Given the description of an element on the screen output the (x, y) to click on. 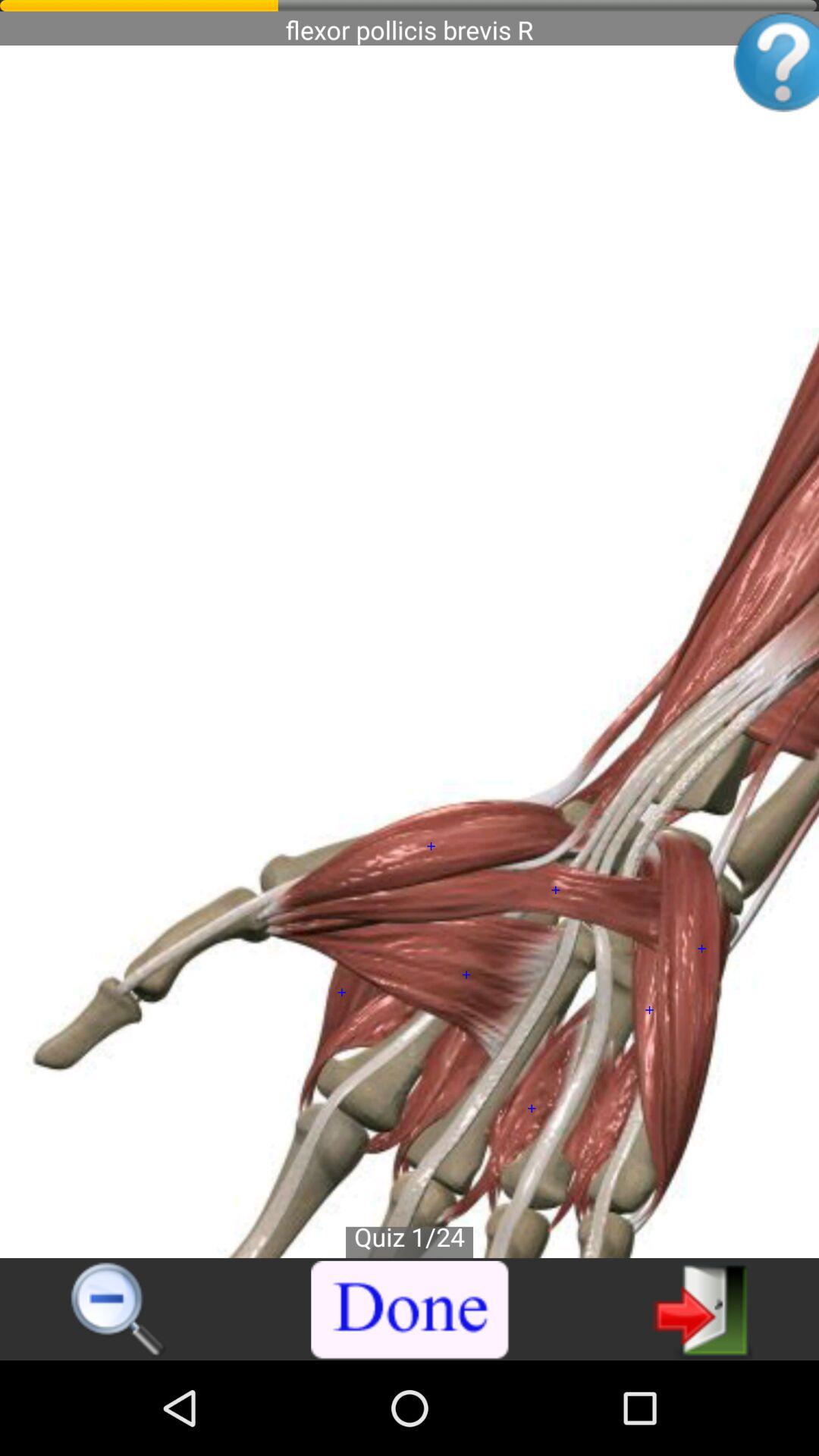
open the item at the bottom (410, 1310)
